Given the description of an element on the screen output the (x, y) to click on. 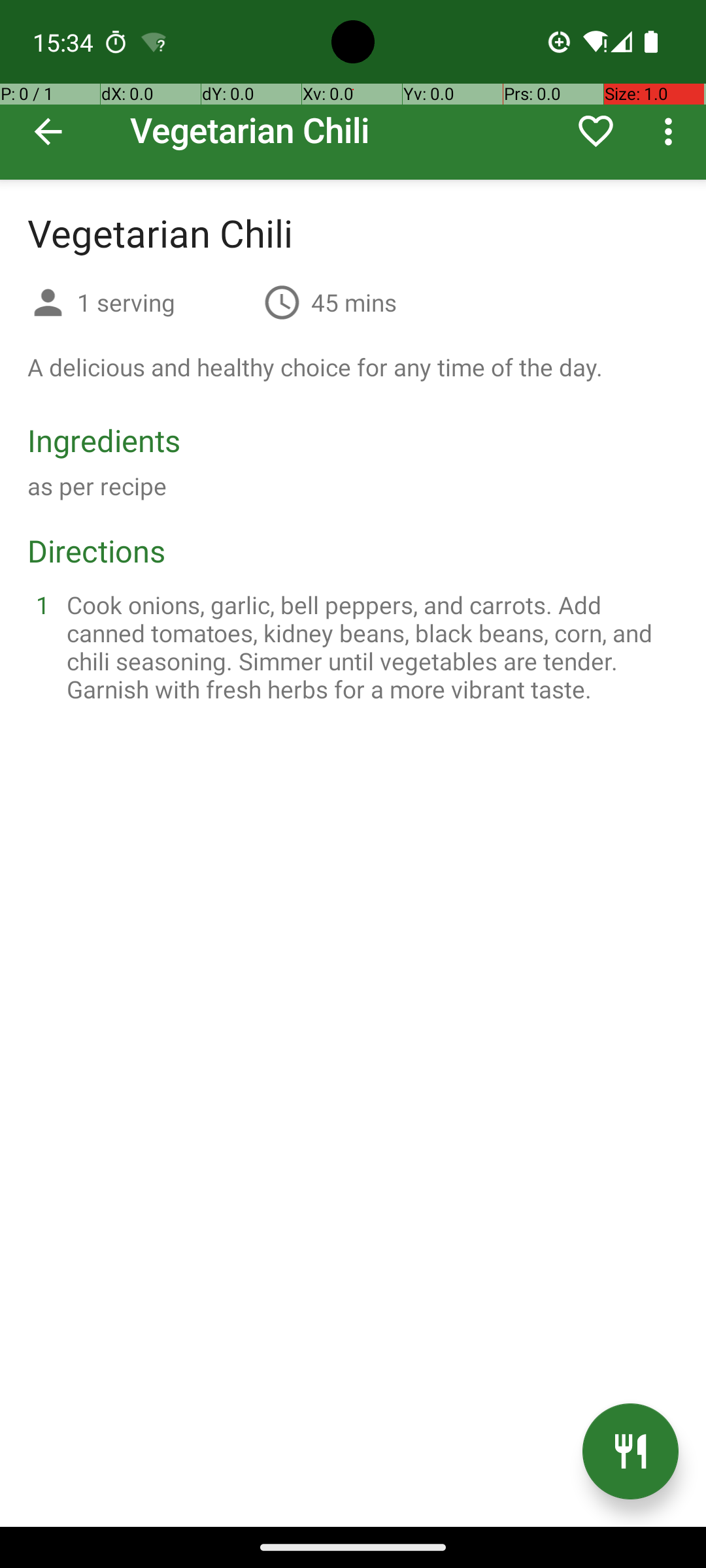
Vegetarian Chili Element type: android.widget.FrameLayout (353, 89)
Cook onions, garlic, bell peppers, and carrots. Add canned tomatoes, kidney beans, black beans, corn, and chili seasoning. Simmer until vegetables are tender. Garnish with fresh herbs for a more vibrant taste. Element type: android.widget.TextView (368, 646)
